Given the description of an element on the screen output the (x, y) to click on. 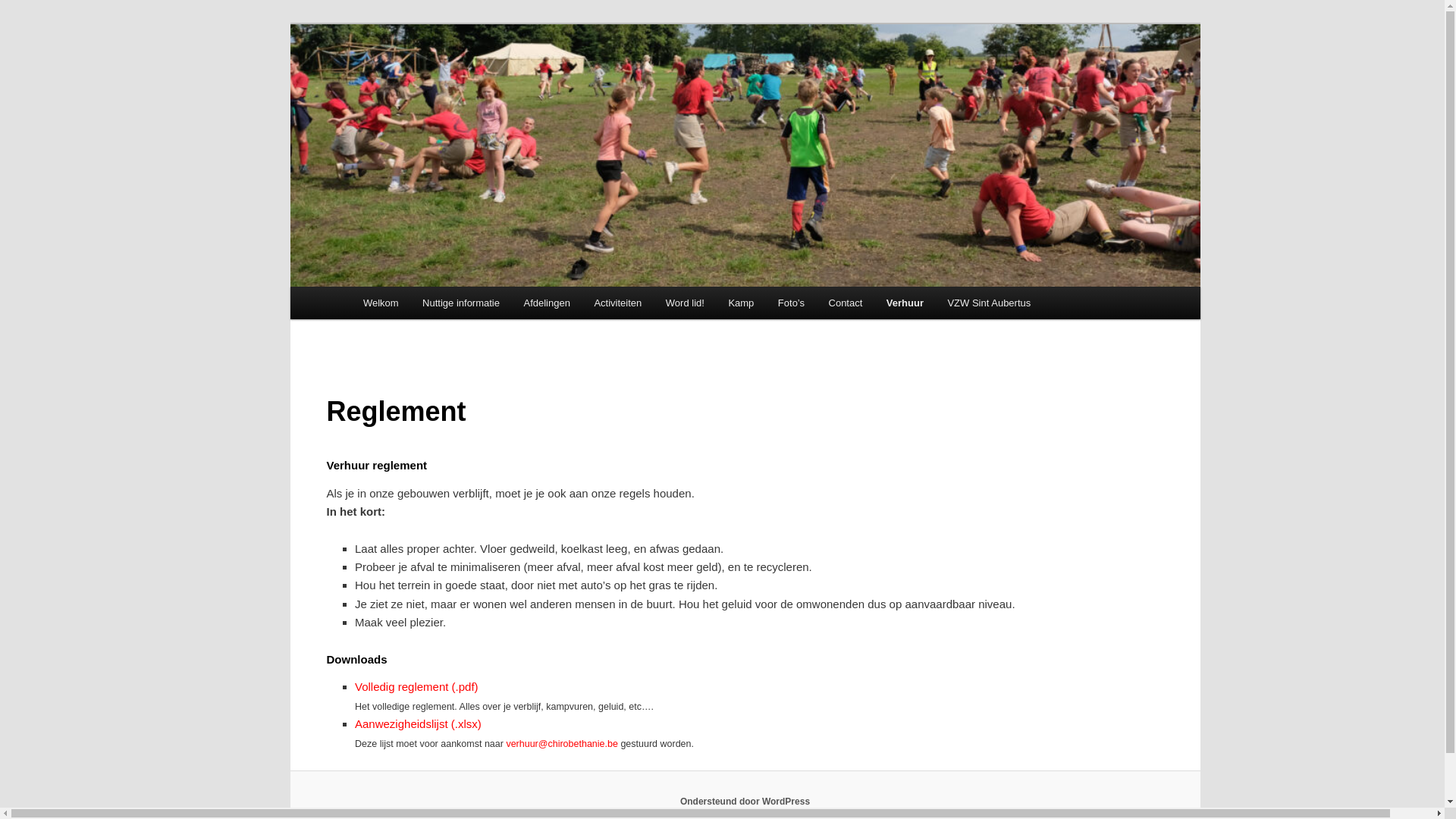
Chiro Bethanie Element type: text (439, 78)
Volledig reglement (.pdf) Element type: text (416, 686)
Kamp Element type: text (740, 302)
Spring naar de primaire inhoud Element type: text (22, 22)
verhuur@chirobethanie.be Element type: text (561, 743)
Welkom Element type: text (380, 302)
Activiteiten Element type: text (617, 302)
Verhuur Element type: text (904, 302)
Ondersteund door WordPress Element type: text (744, 801)
Afdelingen Element type: text (546, 302)
Nuttige informatie Element type: text (460, 302)
Word lid! Element type: text (684, 302)
Aanwezigheidslijst (.xlsx) Element type: text (417, 723)
Contact Element type: text (845, 302)
VZW Sint Aubertus Element type: text (988, 302)
